Given the description of an element on the screen output the (x, y) to click on. 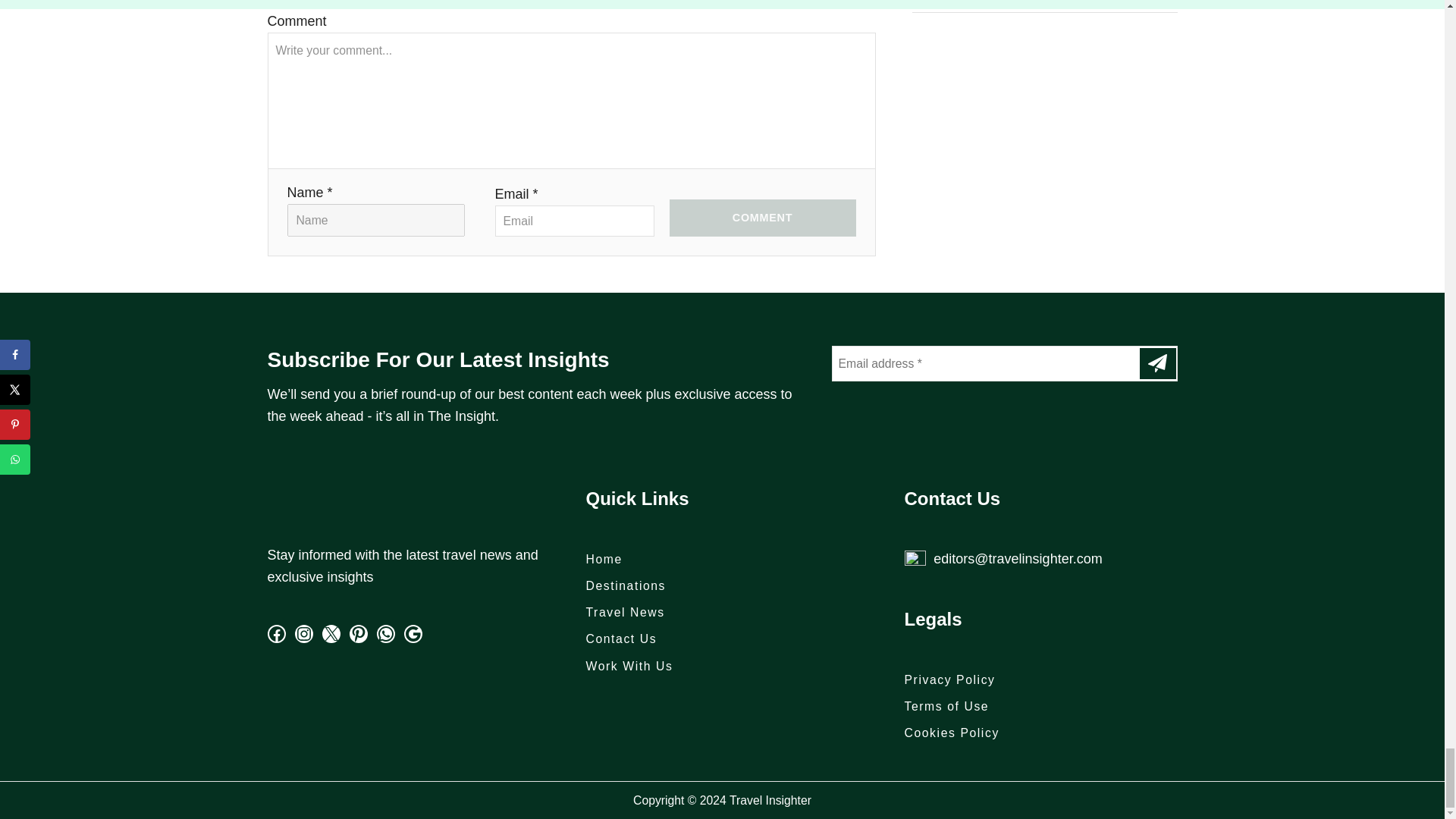
sign up (1156, 363)
